Given the description of an element on the screen output the (x, y) to click on. 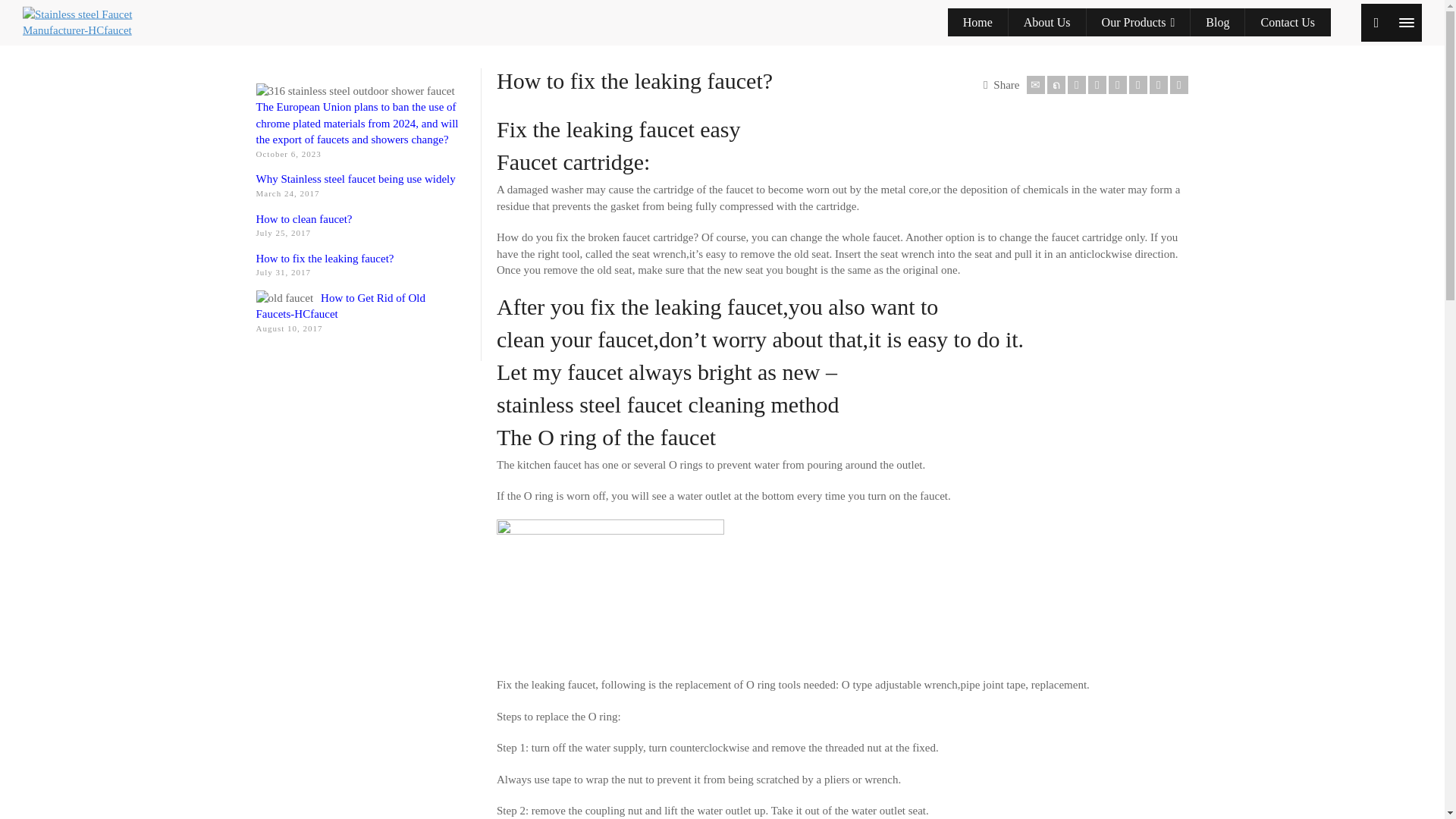
stainless steel faucet cleaning method (668, 404)
Vkontakte (1179, 85)
Twitter (1055, 85)
How to fix the leaking faucet? (325, 258)
Stainless steel Faucet Manufacturer-HCfaucet (83, 21)
How to clean faucet? (304, 218)
Contact Us (1287, 22)
Home (978, 22)
Tumblr (1138, 85)
How to  clean faucet? (304, 218)
About Us (1047, 22)
Pinterest (1117, 85)
Facebook (1076, 85)
How to Get Rid of Old Faucets-HCfaucet (340, 305)
